Given the description of an element on the screen output the (x, y) to click on. 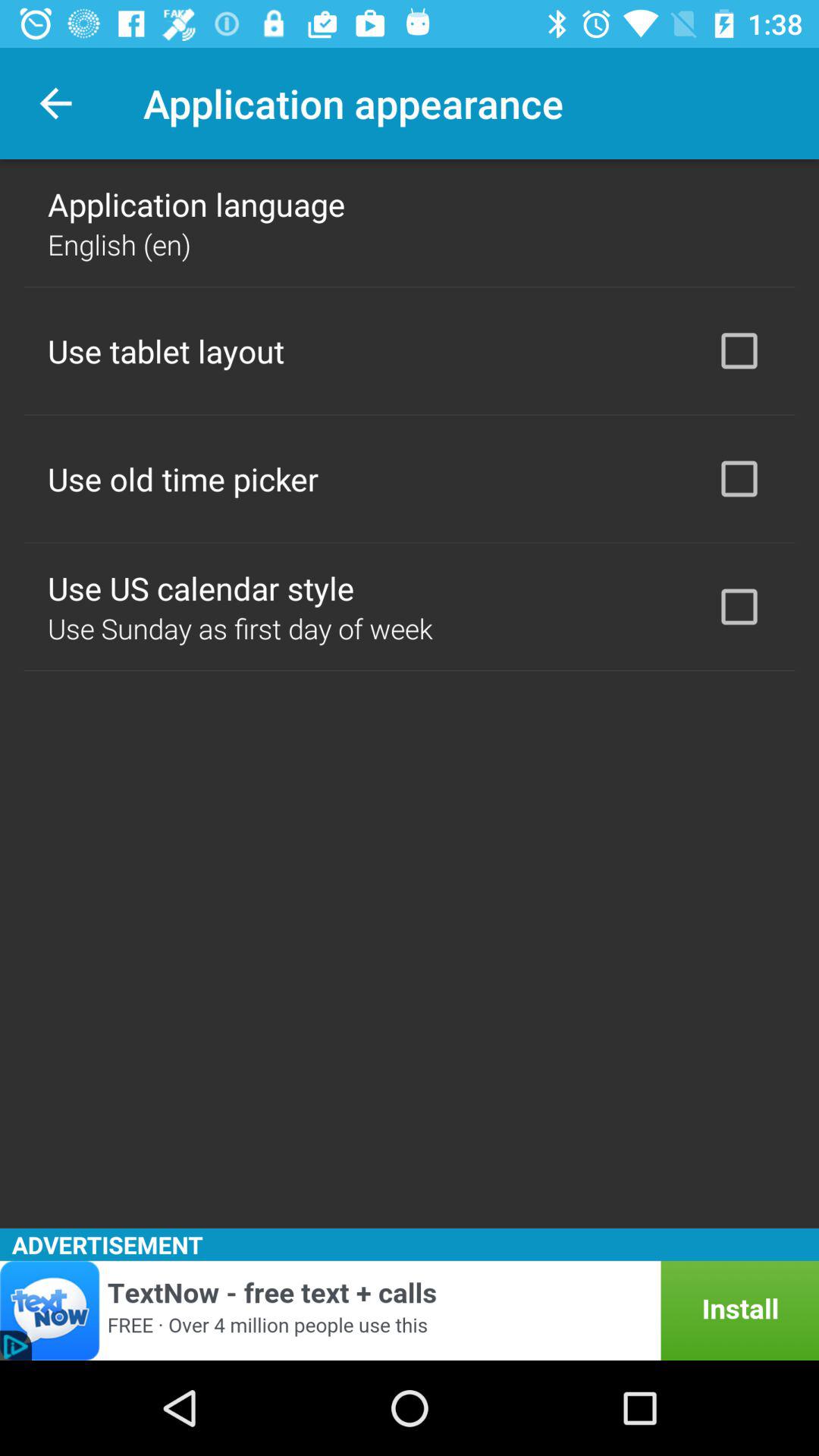
clickable advertisement (409, 1310)
